Given the description of an element on the screen output the (x, y) to click on. 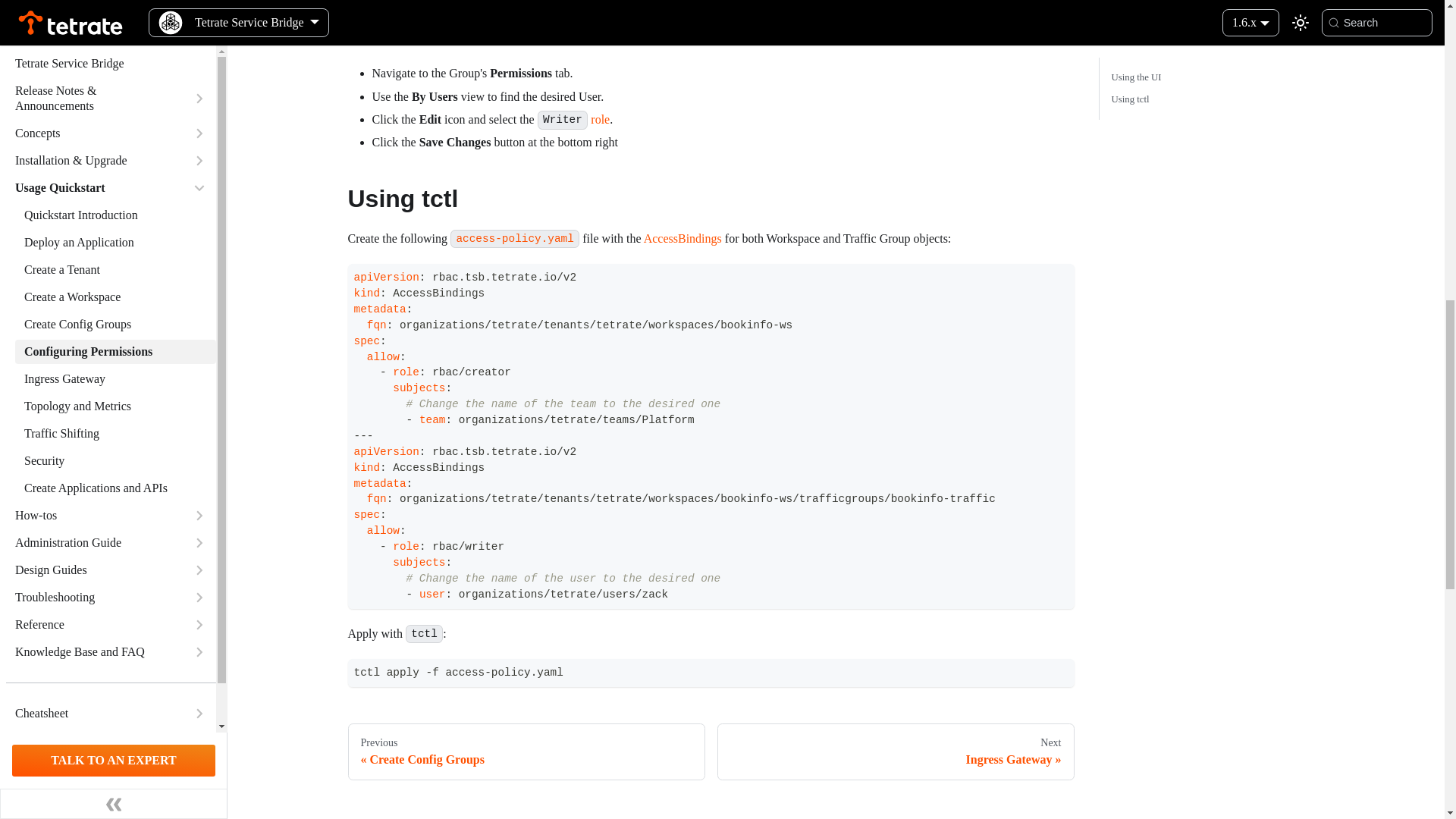
tctl apply -f access-policy.yaml (710, 673)
